Given the description of an element on the screen output the (x, y) to click on. 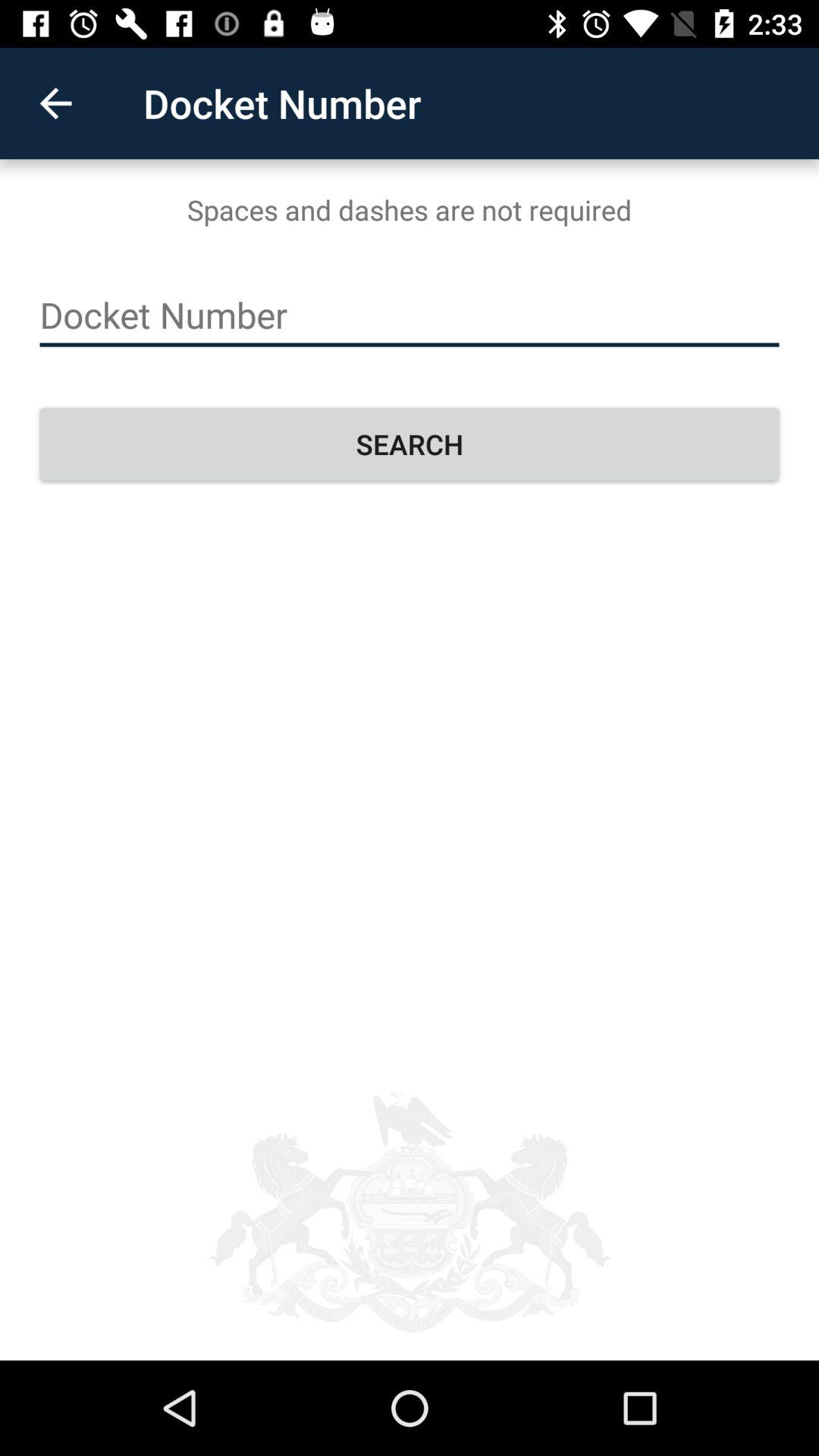
type docket number (409, 315)
